Given the description of an element on the screen output the (x, y) to click on. 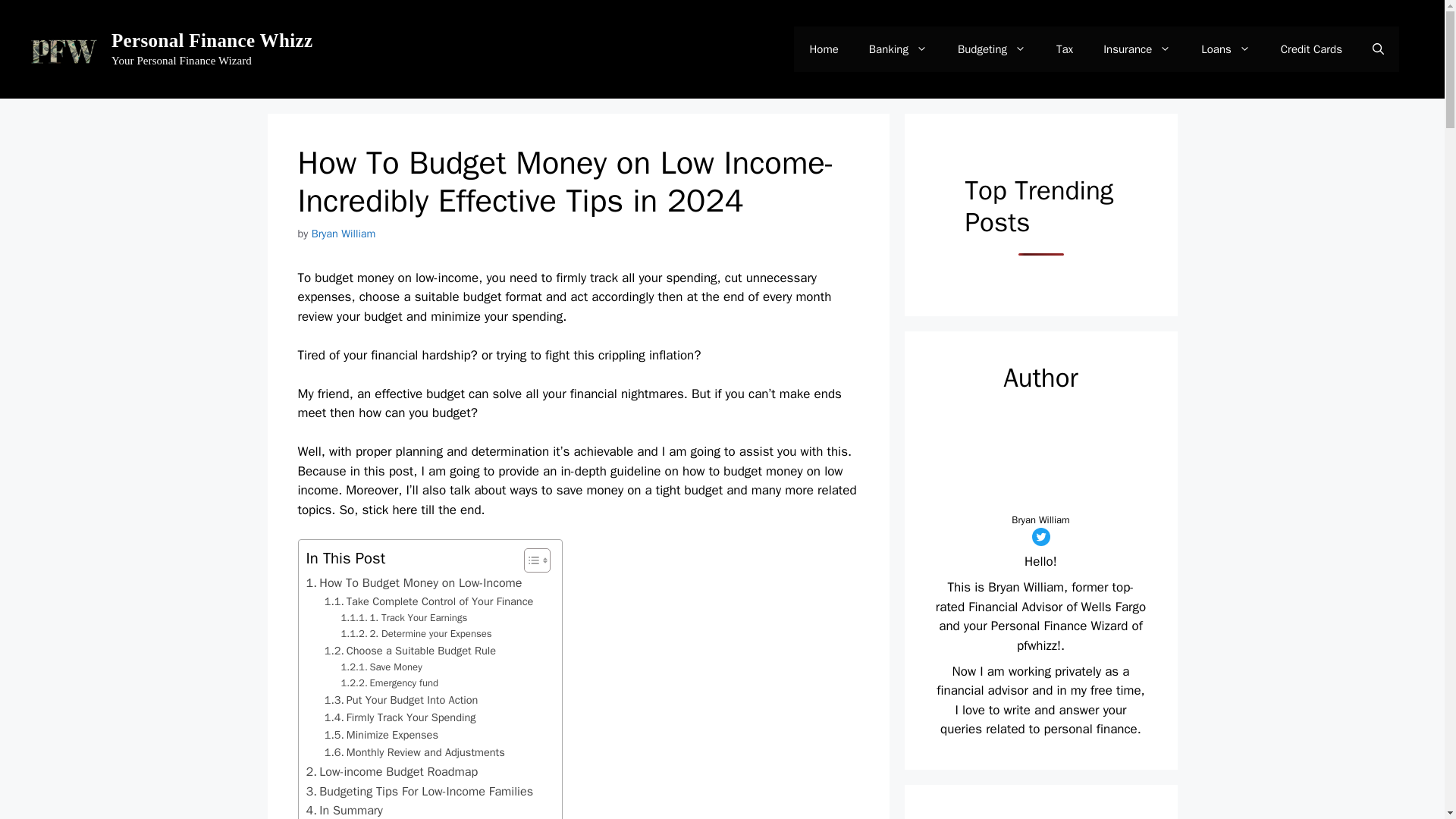
Save Money (381, 667)
Insurance (1136, 49)
Personal Finance Whizz (212, 40)
View all posts by Bryan William (343, 233)
Monthly Review and Adjustments (414, 752)
Take Complete Control of Your Finance     (435, 601)
1. Track Your Earnings (403, 618)
Bryan William (343, 233)
How To Budget Money on Low-Income (413, 582)
Monthly Review and Adjustments (414, 752)
Loans (1225, 49)
Put Your Budget Into Action (401, 700)
Tax (1064, 49)
Home (823, 49)
